Given the description of an element on the screen output the (x, y) to click on. 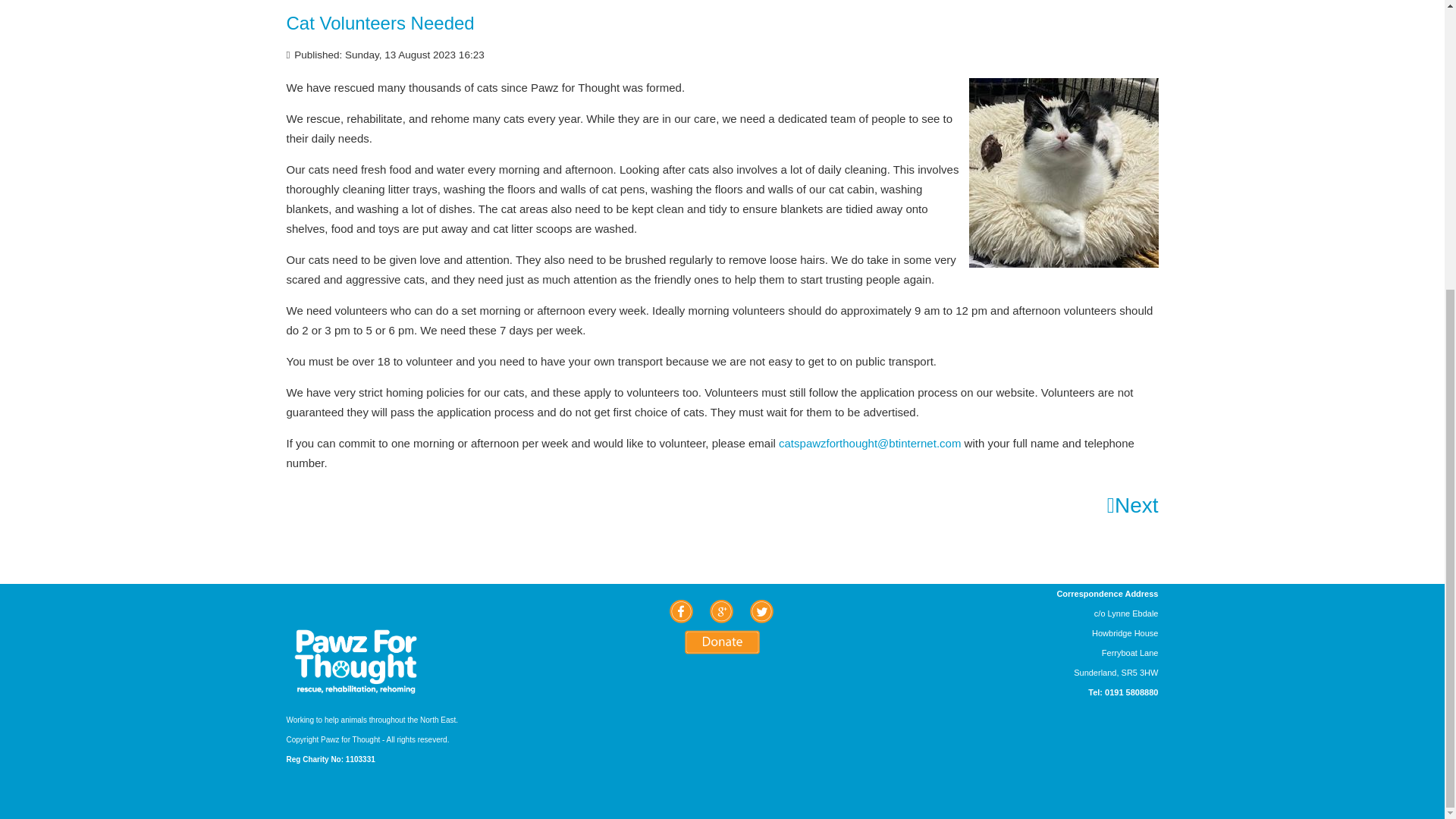
Cat Volunteers Needed (380, 23)
Next (1132, 505)
